Given the description of an element on the screen output the (x, y) to click on. 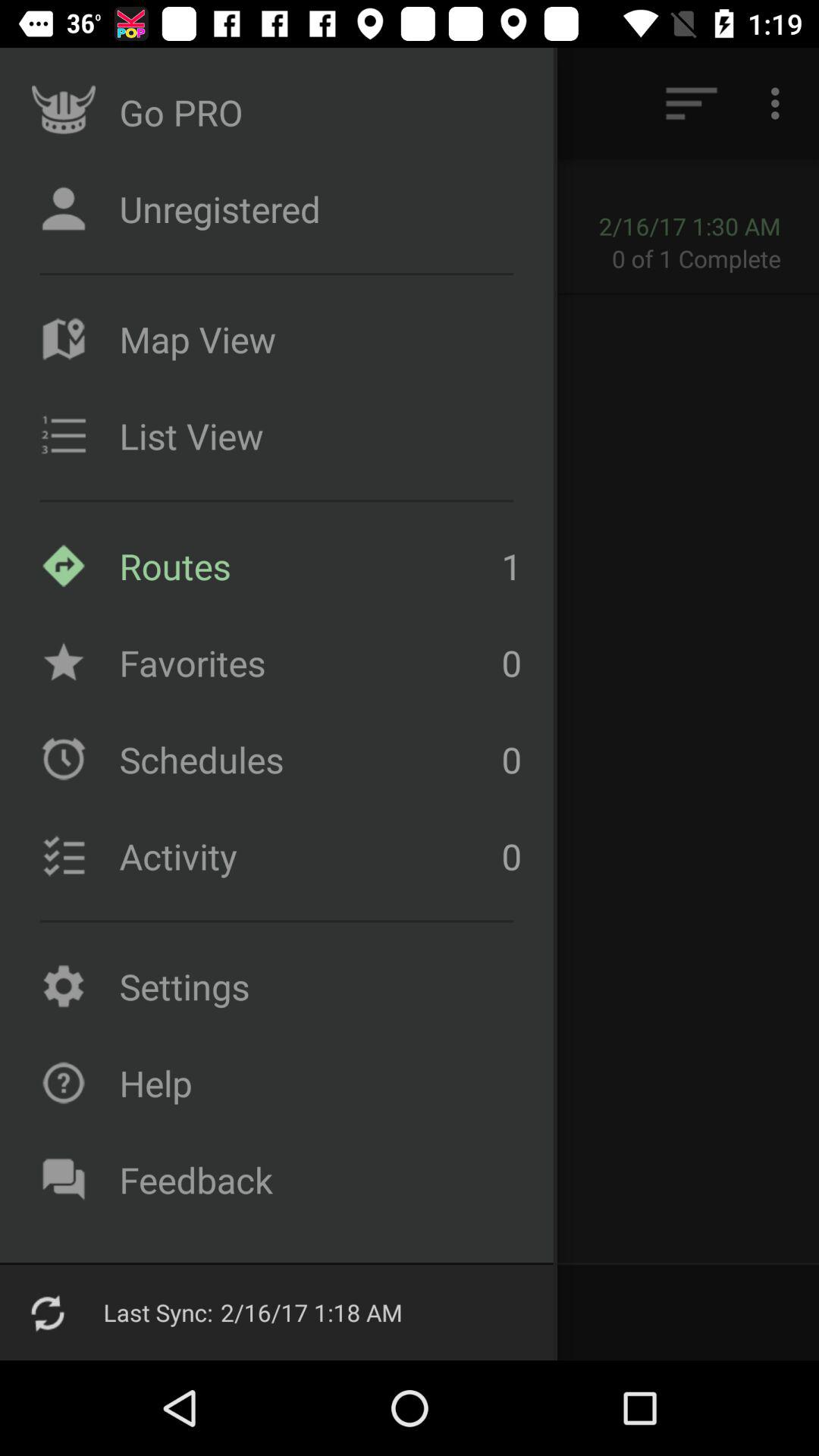
choose settings (316, 986)
